Given the description of an element on the screen output the (x, y) to click on. 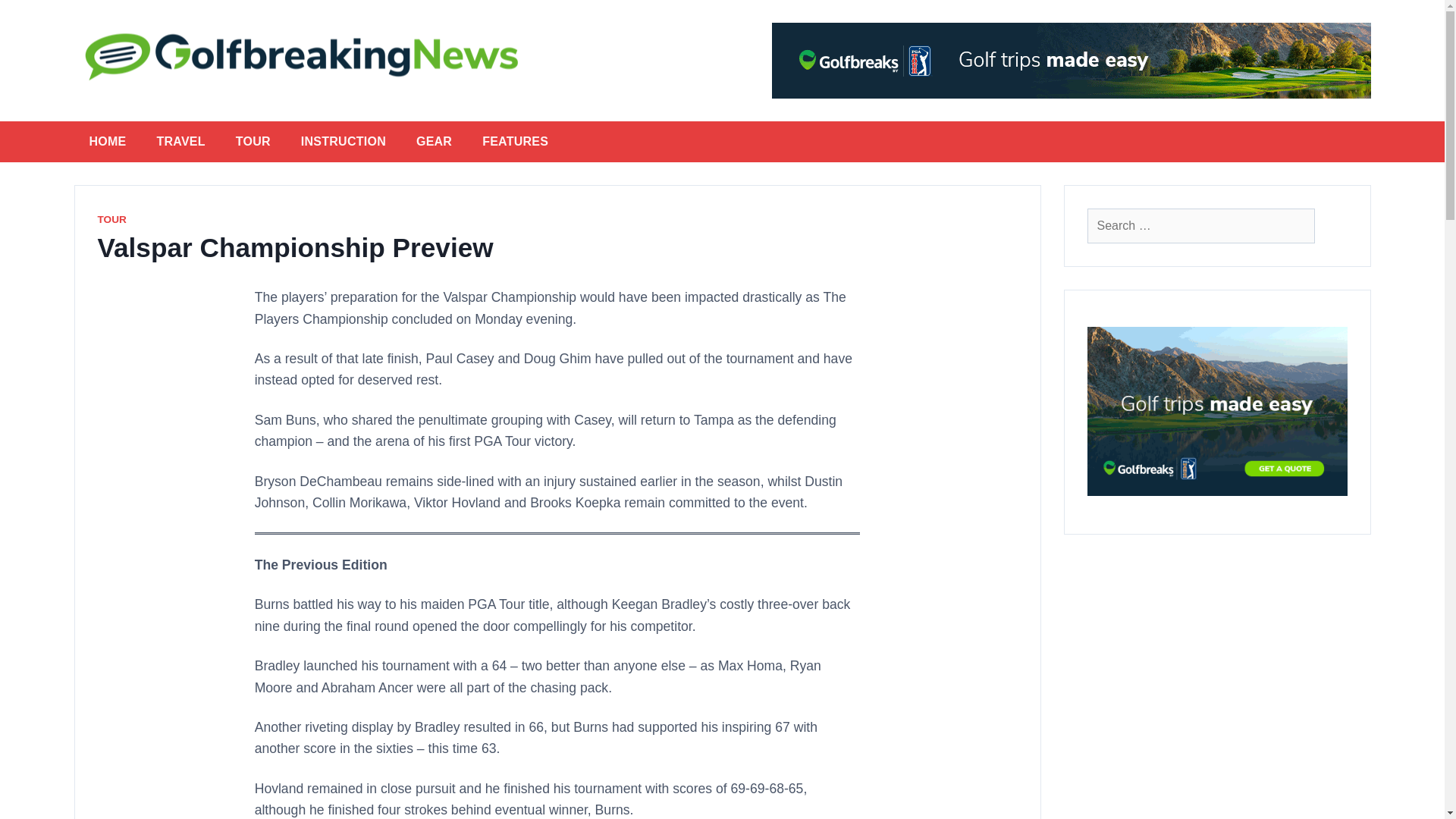
FEATURES (515, 141)
INSTRUCTION (343, 141)
TOUR (111, 219)
TOUR (253, 141)
Search (43, 18)
GEAR (434, 141)
TRAVEL (180, 141)
HOME (107, 141)
